Given the description of an element on the screen output the (x, y) to click on. 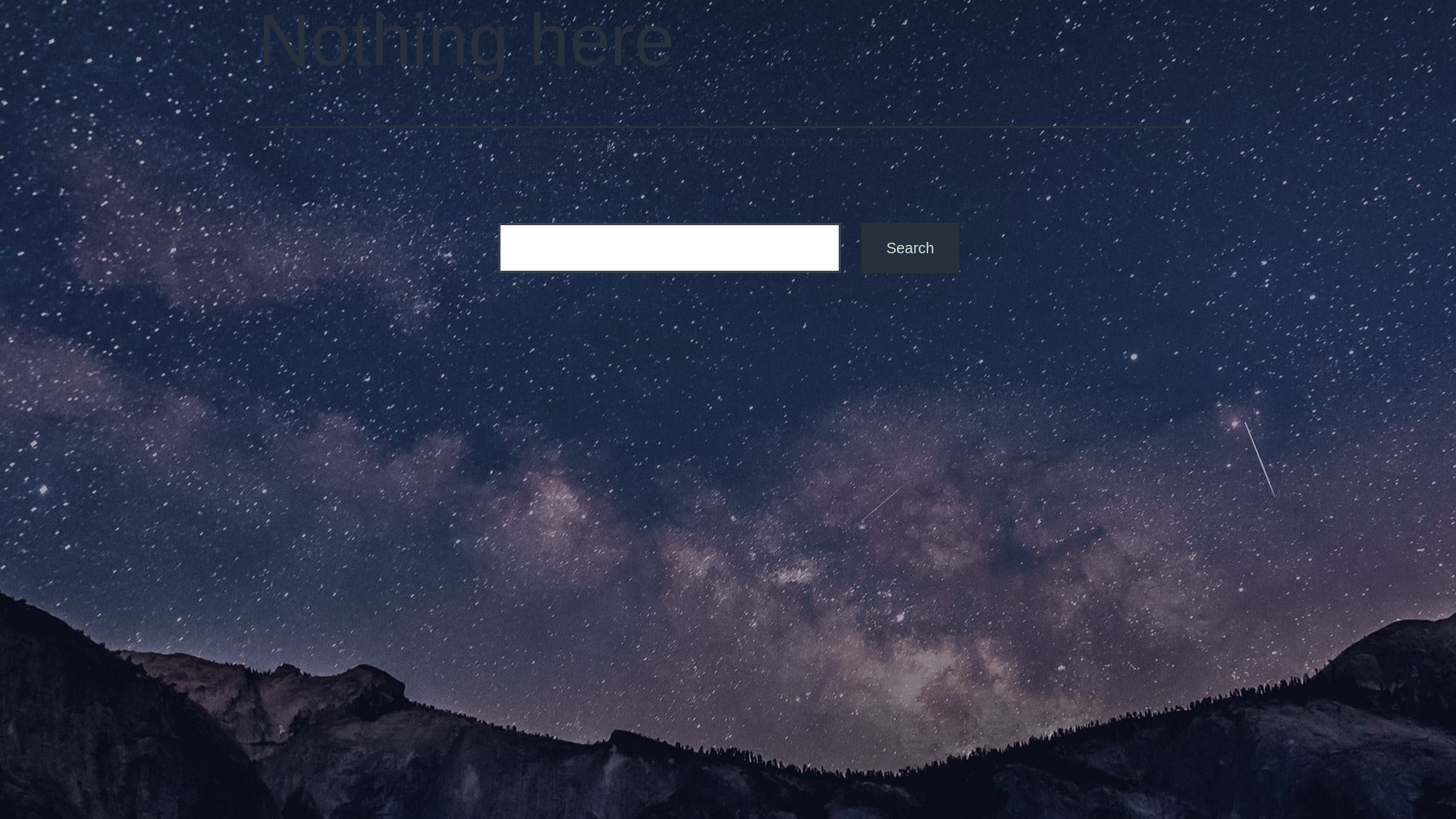
Search Element type: text (910, 247)
